Given the description of an element on the screen output the (x, y) to click on. 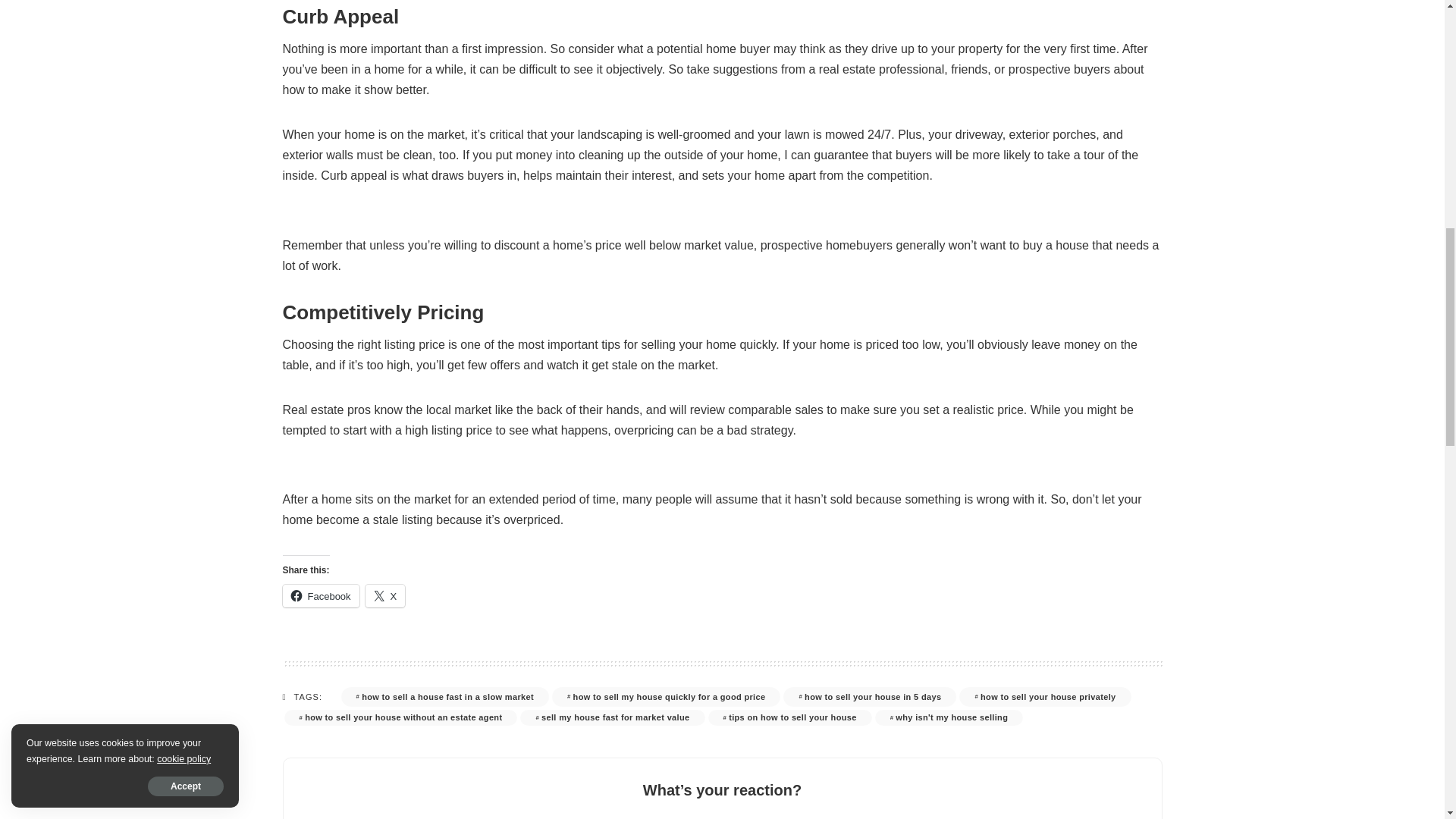
Click to share on Facebook (320, 595)
Click to share on X (385, 595)
how to sell my house quickly for a good price (665, 696)
how to sell a house fast in a slow market (444, 696)
